Given the description of an element on the screen output the (x, y) to click on. 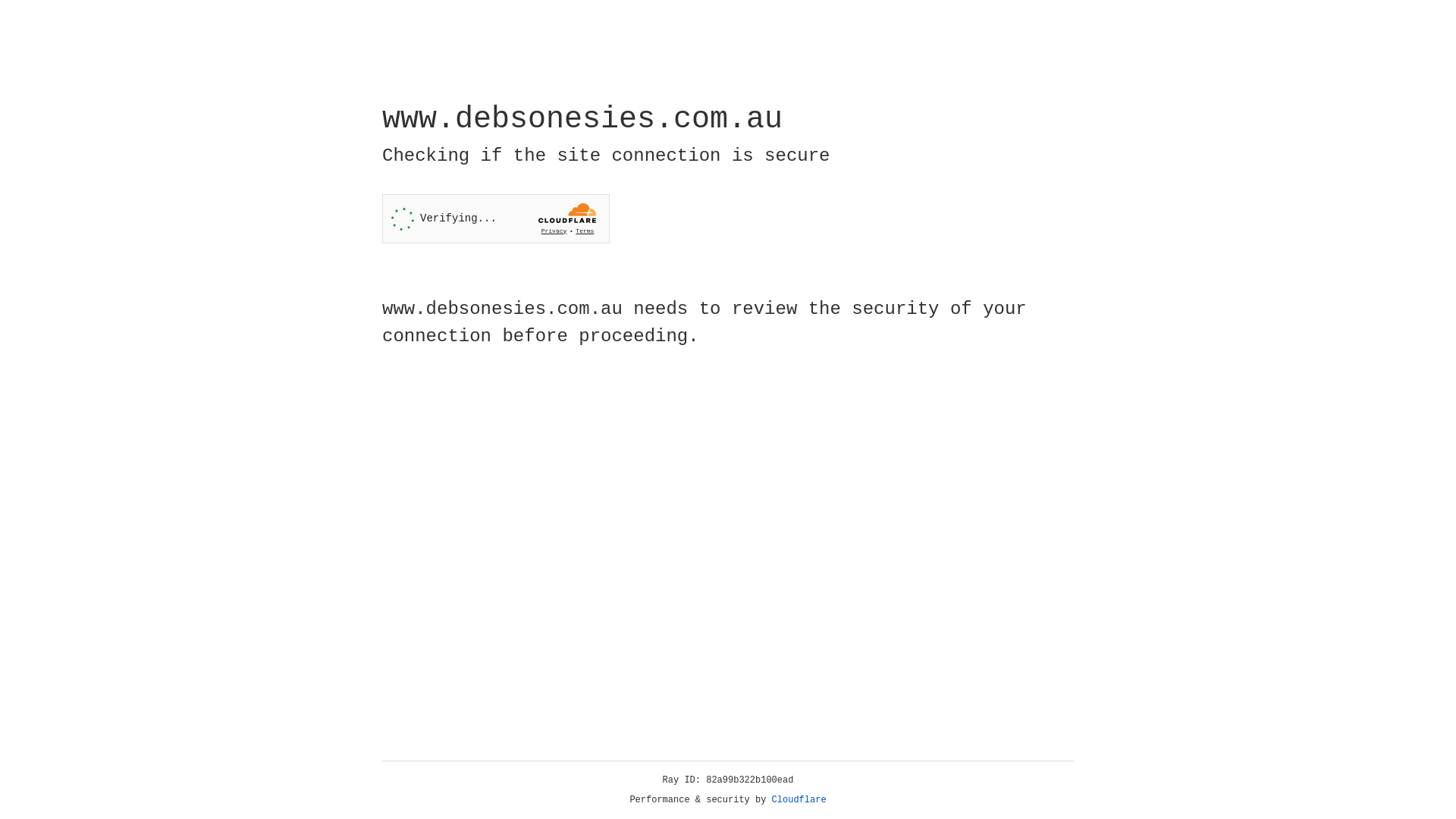
Cloudflare Element type: text (798, 799)
Widget containing a Cloudflare security challenge Element type: hover (495, 218)
